Given the description of an element on the screen output the (x, y) to click on. 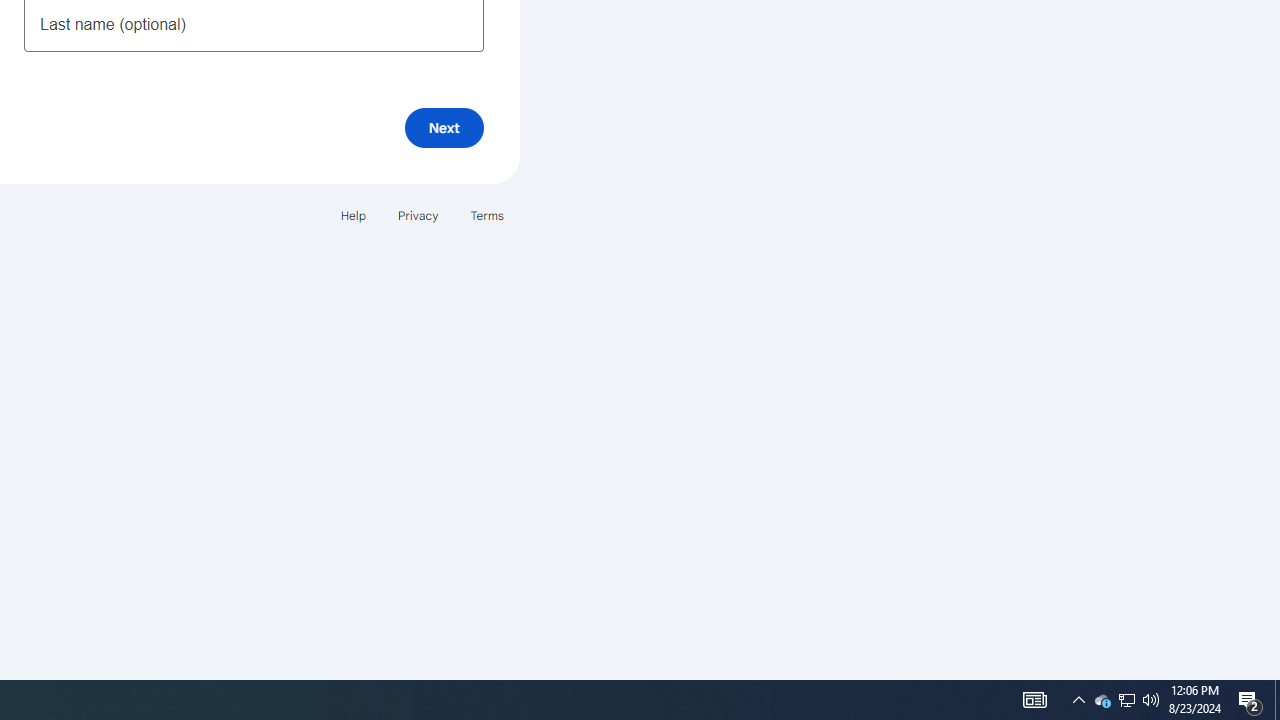
Next (443, 127)
